Given the description of an element on the screen output the (x, y) to click on. 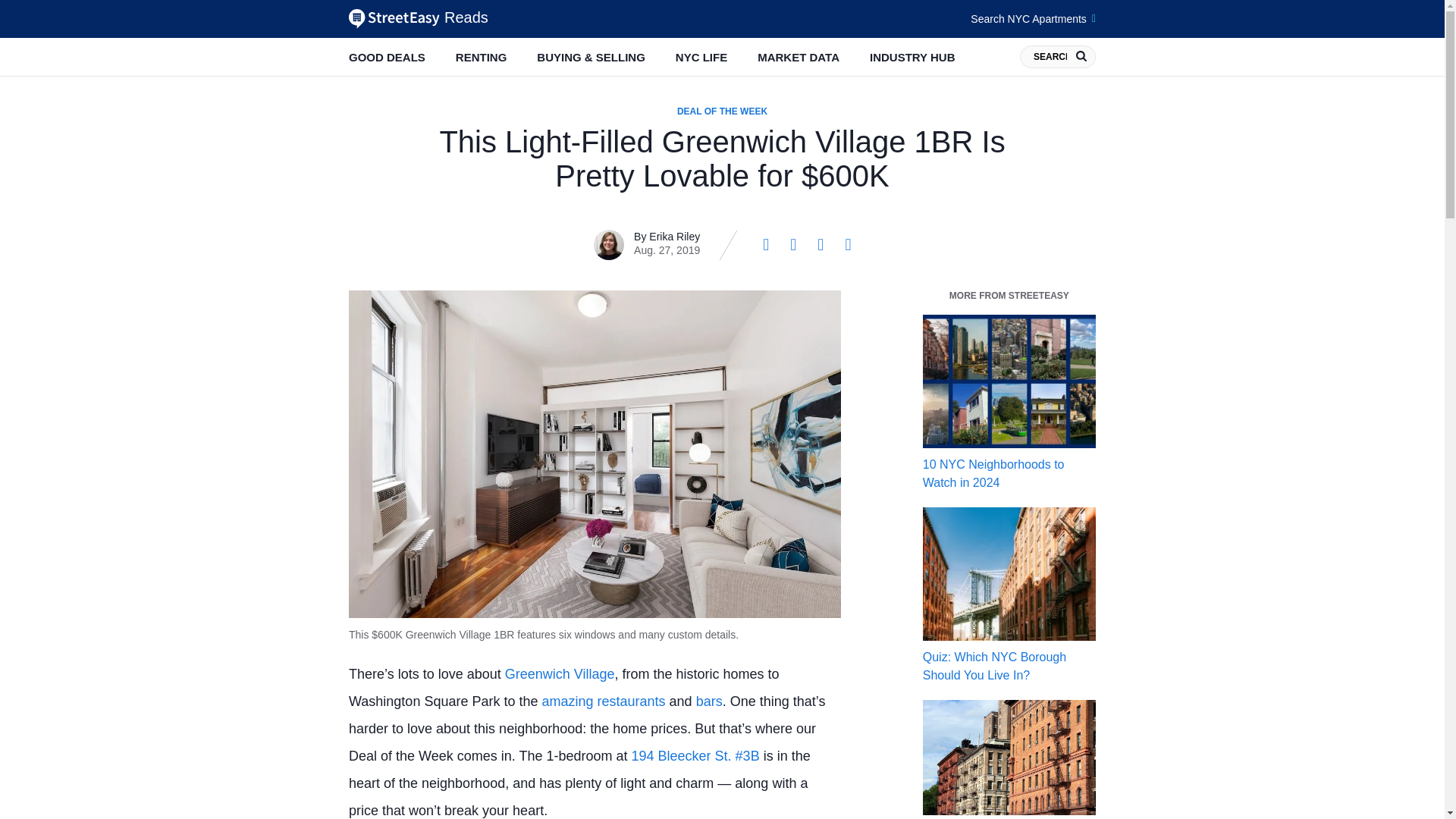
DEAL OF THE WEEK (722, 111)
MARKET DATA (798, 56)
INDUSTRY HUB (912, 56)
amazing restaurants (603, 701)
NYC LIFE (700, 56)
Search NYC Apartments (1033, 18)
Greenwich Village (559, 673)
RENTING (480, 56)
Erika Riley (674, 236)
bars (708, 701)
GOOD DEALS (387, 56)
Reads (418, 18)
